Given the description of an element on the screen output the (x, y) to click on. 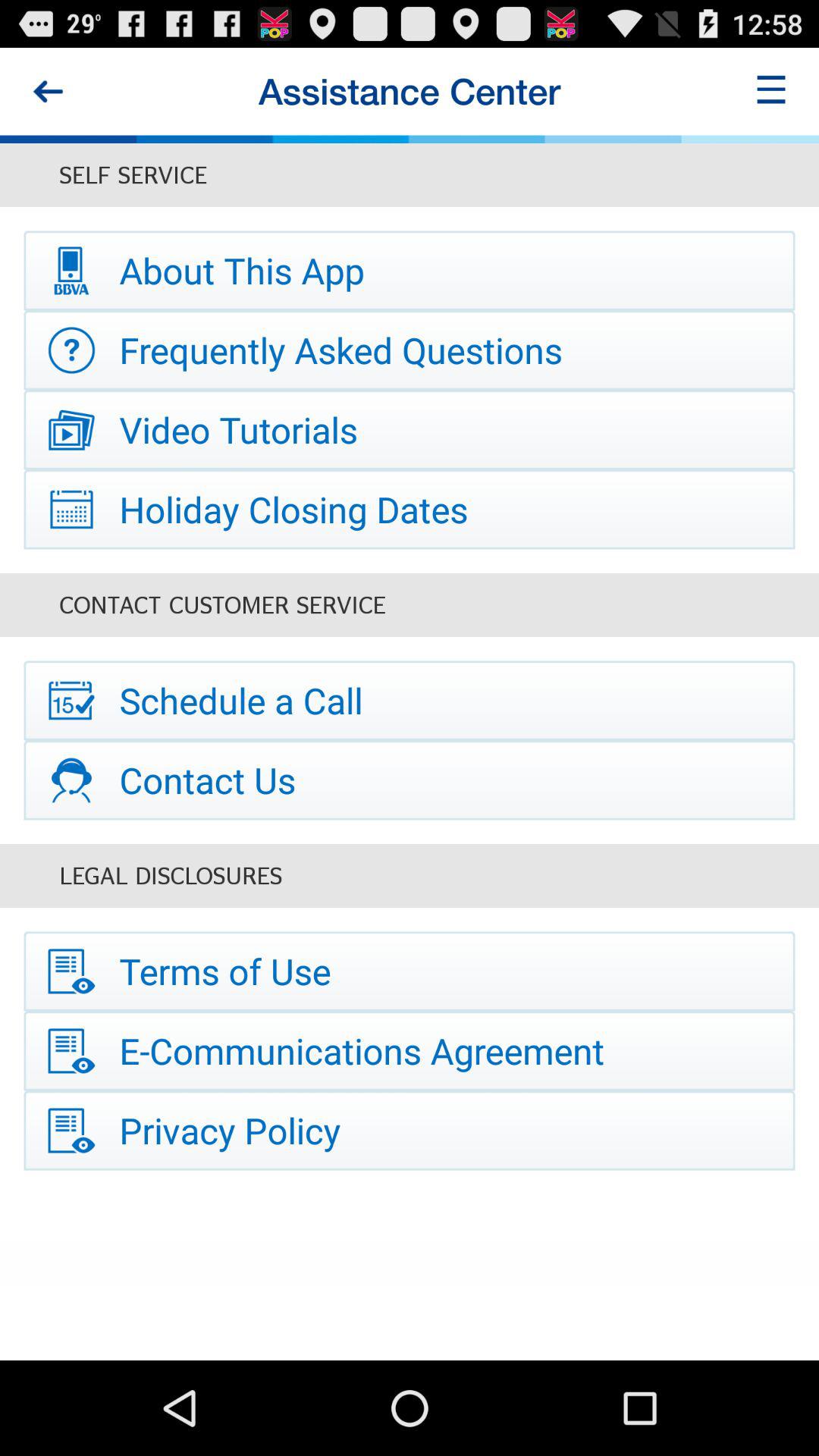
launch icon next to the assistance center icon (771, 91)
